Given the description of an element on the screen output the (x, y) to click on. 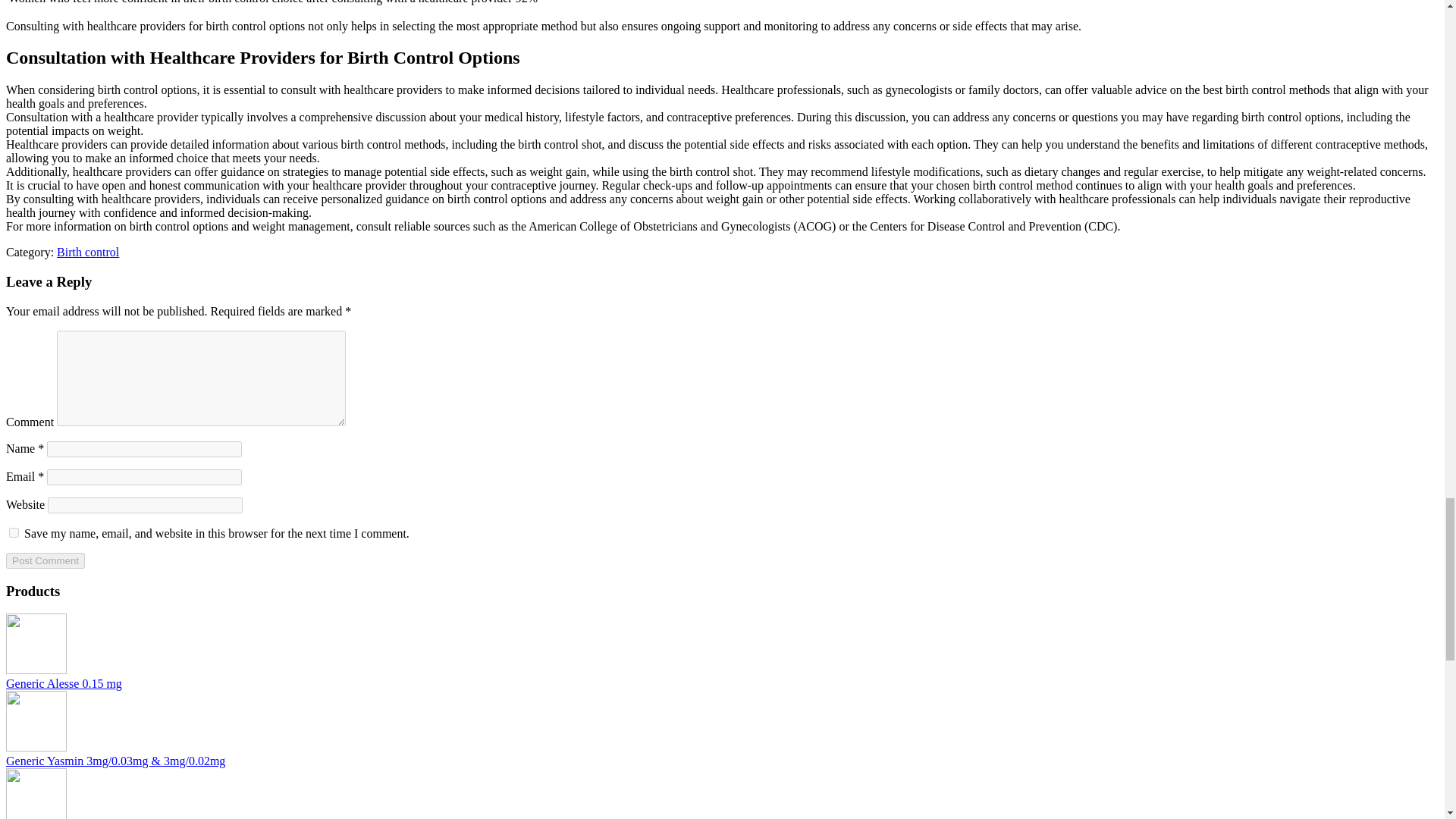
Post Comment (44, 560)
Birth control (87, 251)
yes (13, 532)
Generic Alesse 0.15 mg (35, 669)
Post Comment (44, 560)
Generic Alesse 0.15 mg (63, 683)
Generic Alesse 0.15 mg (63, 683)
